Given the description of an element on the screen output the (x, y) to click on. 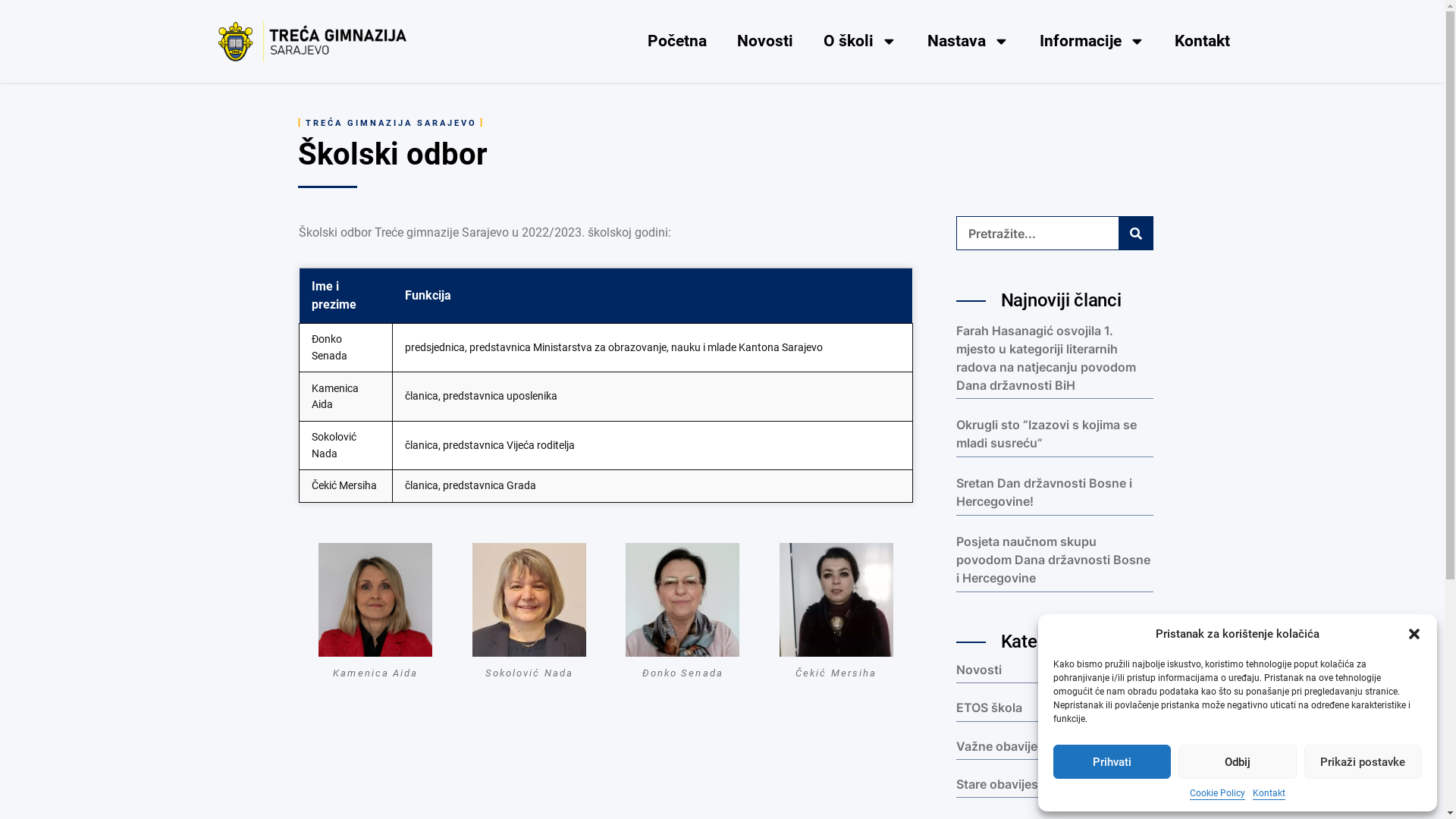
Prihvati Element type: text (1111, 761)
Novosti Element type: text (978, 669)
Stare obavijesti Element type: text (1000, 783)
Informacije Element type: text (1092, 41)
Nastava Element type: text (968, 41)
Novosti Element type: text (764, 41)
Kontakt Element type: text (1268, 793)
Odbij Element type: text (1236, 761)
Kontakt Element type: text (1202, 41)
Cookie Policy Element type: text (1217, 793)
